Given the description of an element on the screen output the (x, y) to click on. 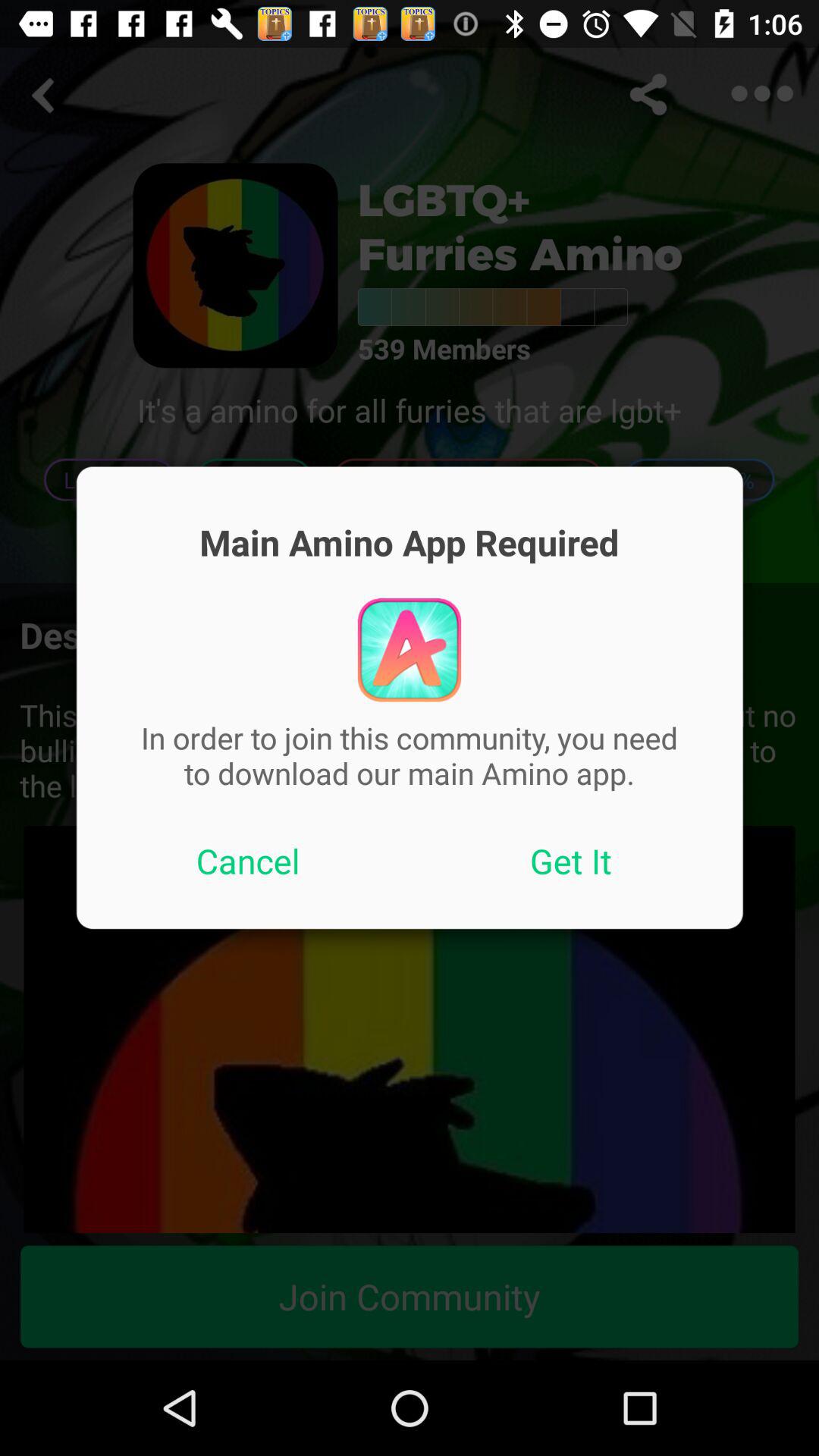
turn on icon below in order to item (570, 860)
